Given the description of an element on the screen output the (x, y) to click on. 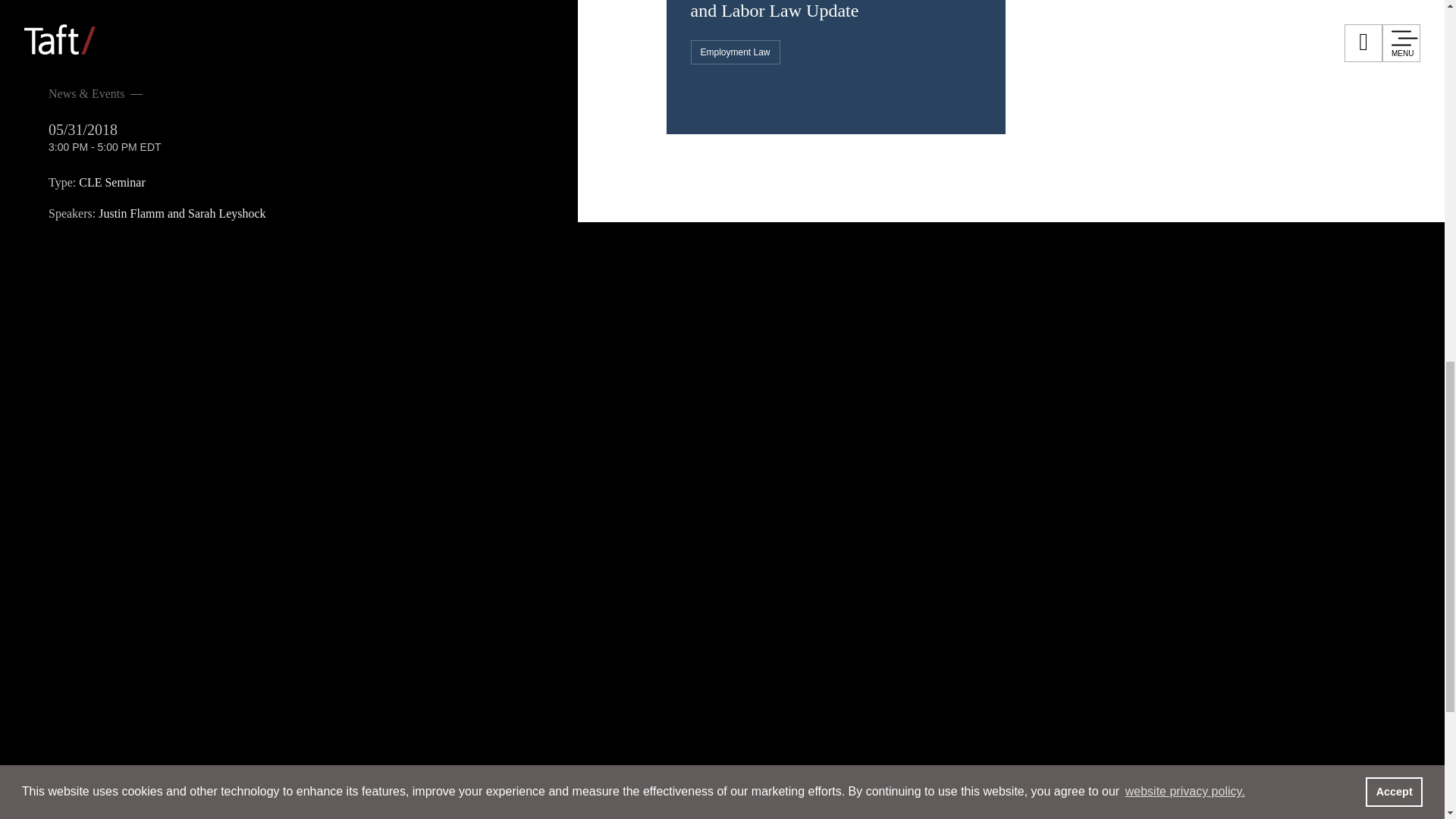
Taft Cincinnati's Annual Employment and Labor Law Update (834, 11)
Careers (136, 535)
Privacy (1002, 610)
Affiliates (753, 610)
People (129, 176)
Contact Us (836, 610)
Payments (861, 636)
Subscribe (925, 610)
People (129, 397)
Employment Law (734, 52)
